Given the description of an element on the screen output the (x, y) to click on. 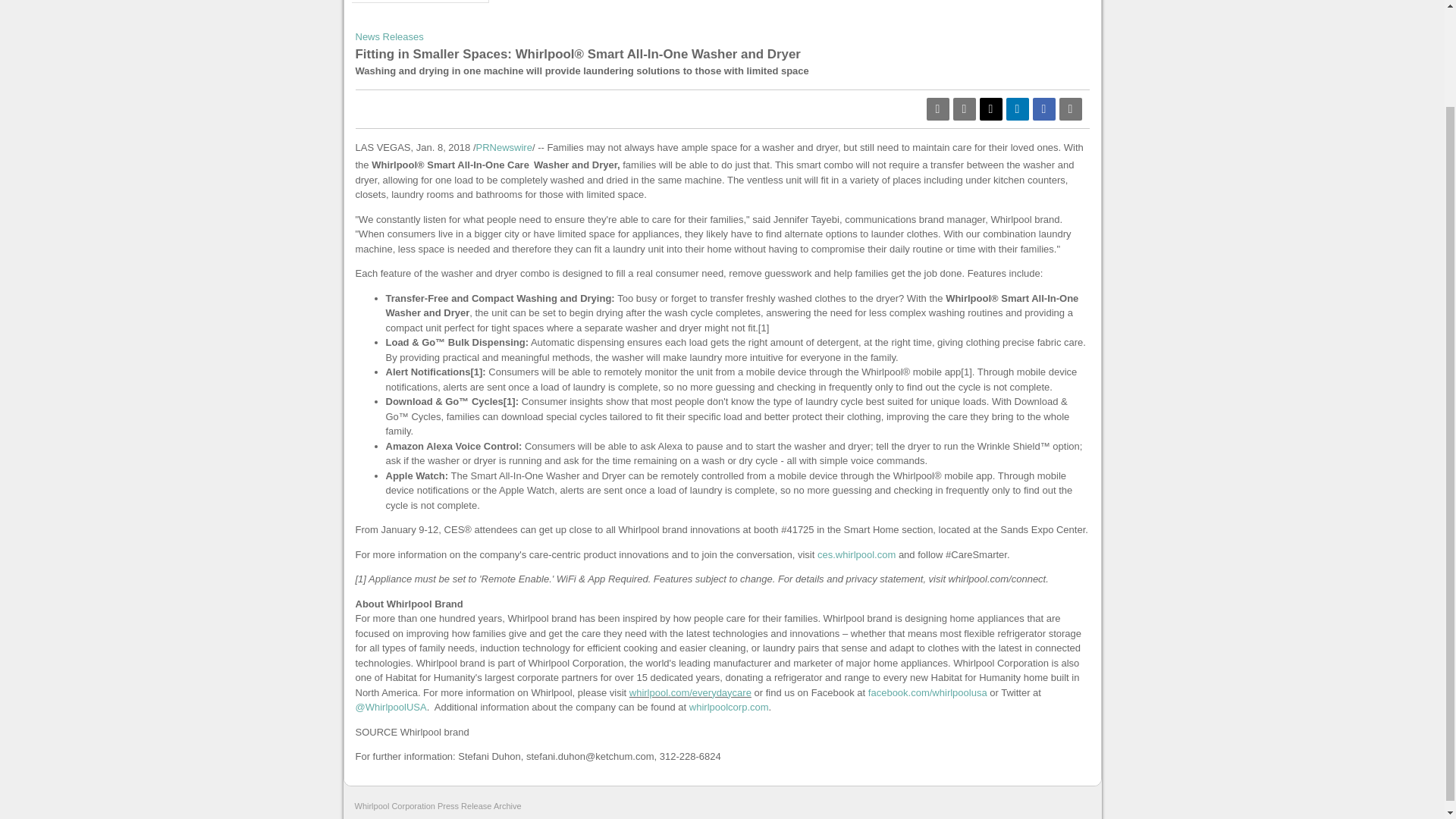
PRNewswire (504, 147)
News Releases (389, 36)
News Releases (419, 1)
